Given the description of an element on the screen output the (x, y) to click on. 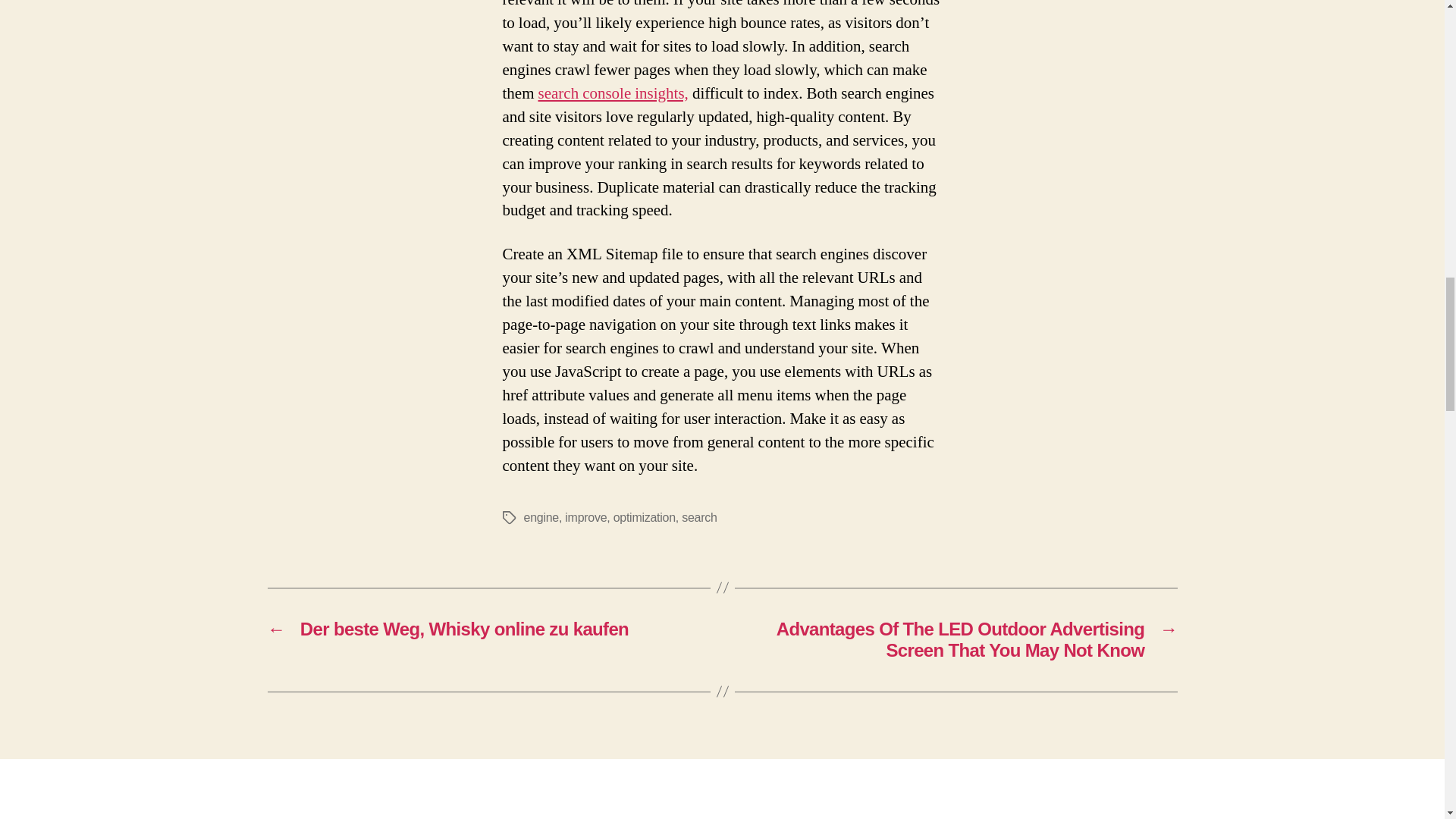
optimization (643, 517)
search console insights, (613, 93)
improve (585, 517)
search (698, 517)
engine (539, 517)
